Given the description of an element on the screen output the (x, y) to click on. 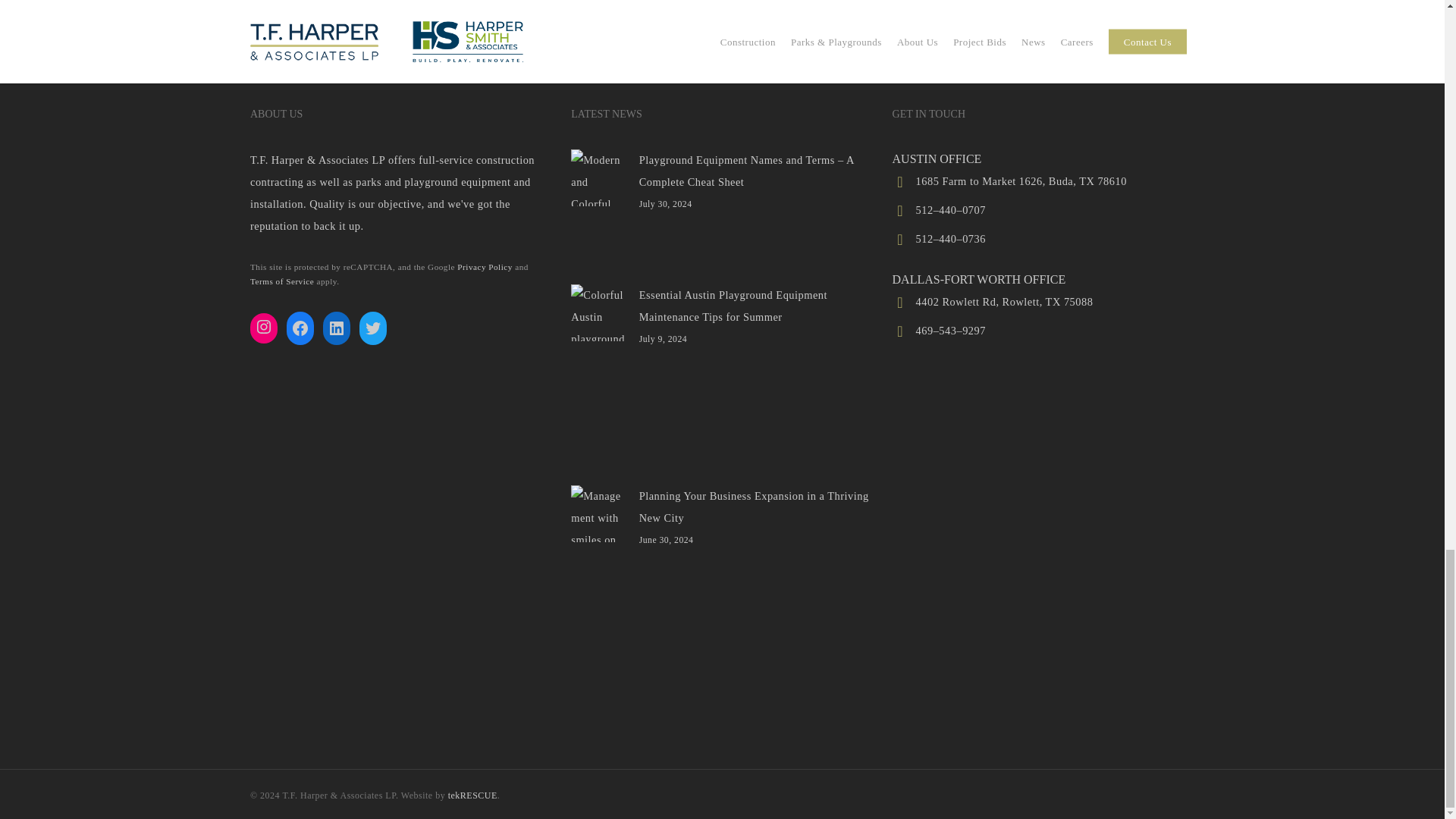
Terms of Service (282, 280)
View Our Instagram Feed (264, 326)
Privacy Policy (484, 266)
tekRESCUE (472, 795)
Twitter (373, 328)
View Our Facebook Page (300, 328)
View Our LinkedIn Profile (336, 328)
Planning Your Business Expansion in a Thriving New City (721, 507)
